Given the description of an element on the screen output the (x, y) to click on. 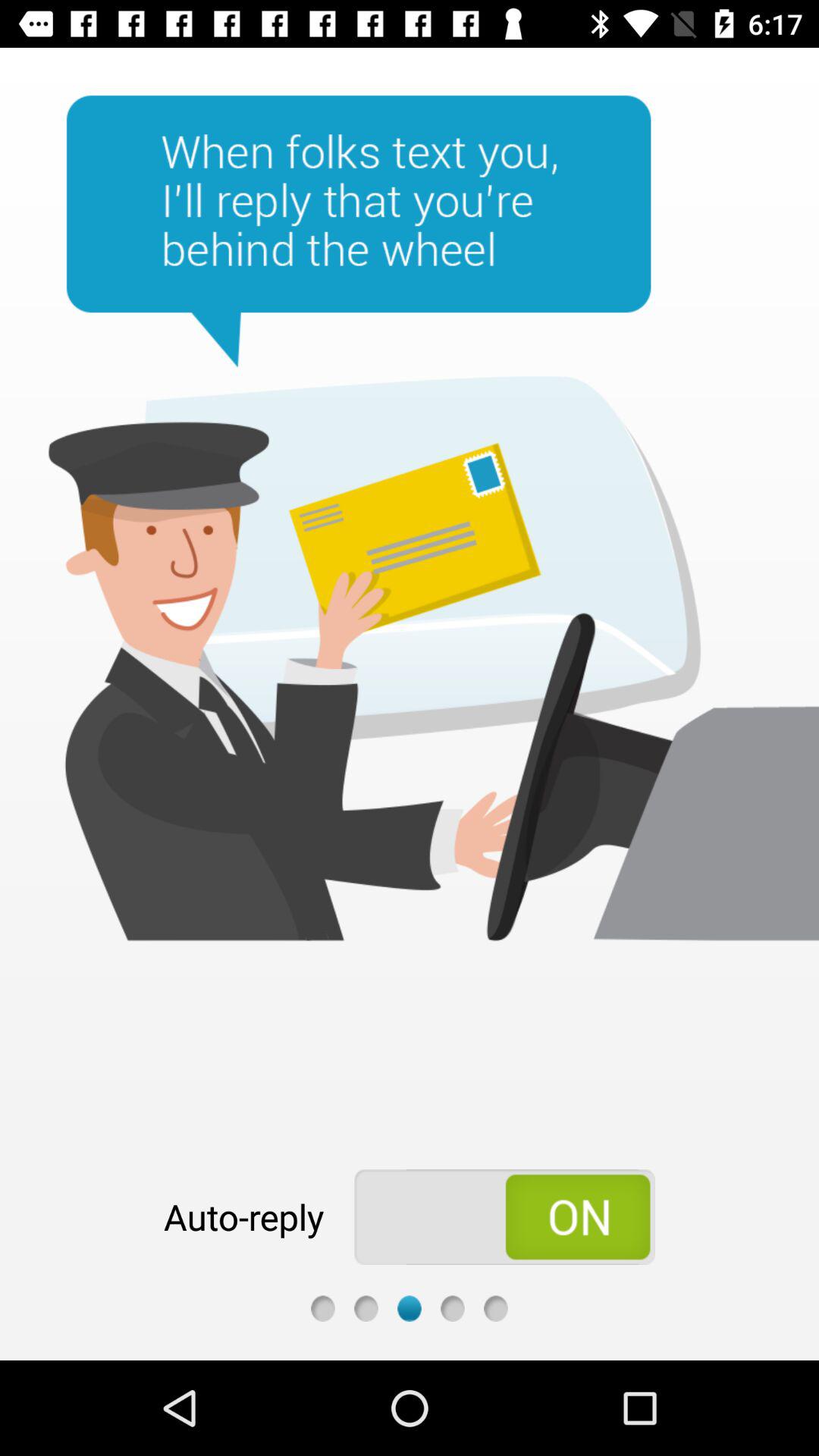
choose the item to the right of the auto-reply app (504, 1216)
